Given the description of an element on the screen output the (x, y) to click on. 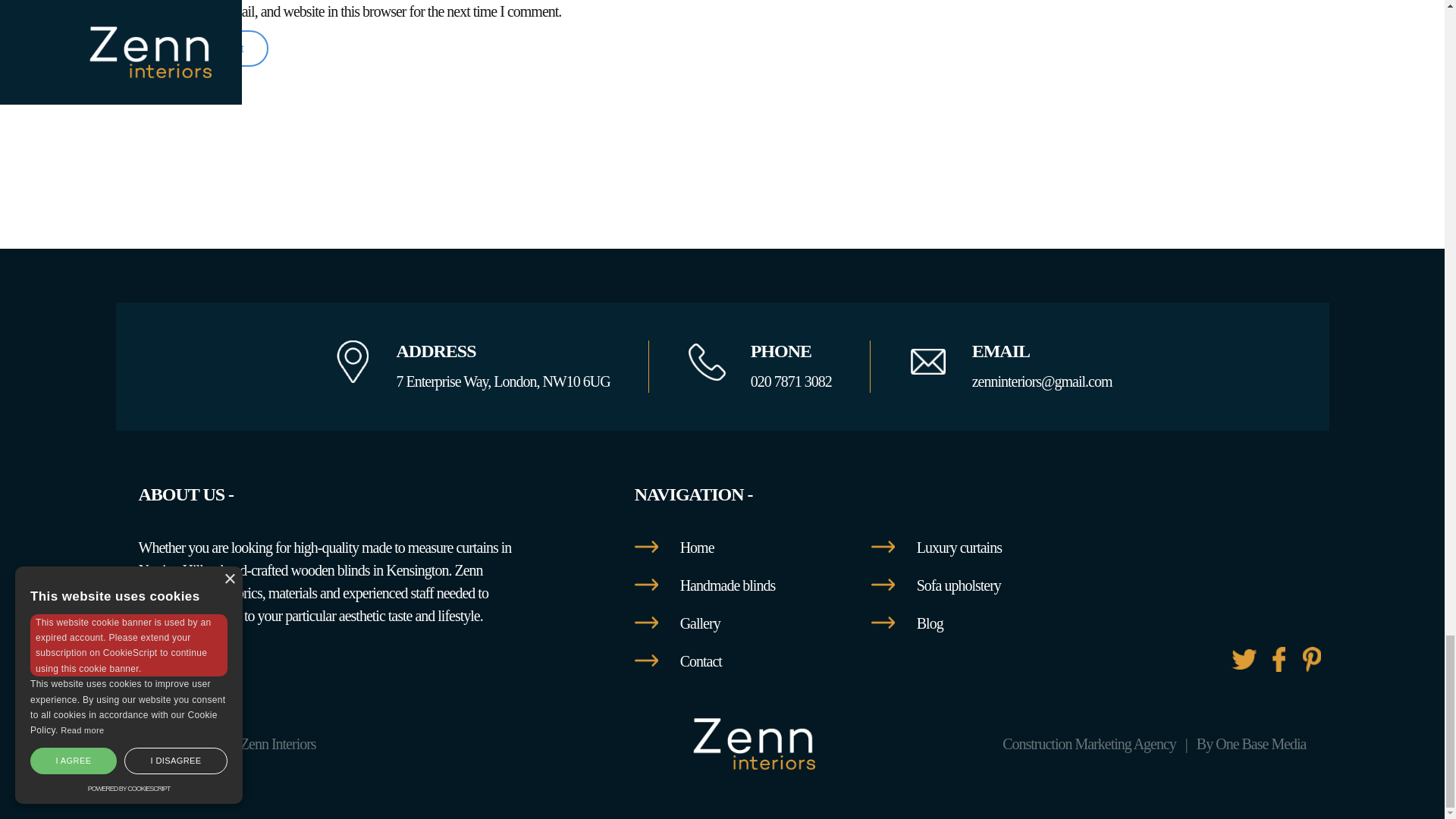
Post Comment (202, 48)
Post Comment (202, 48)
